Given the description of an element on the screen output the (x, y) to click on. 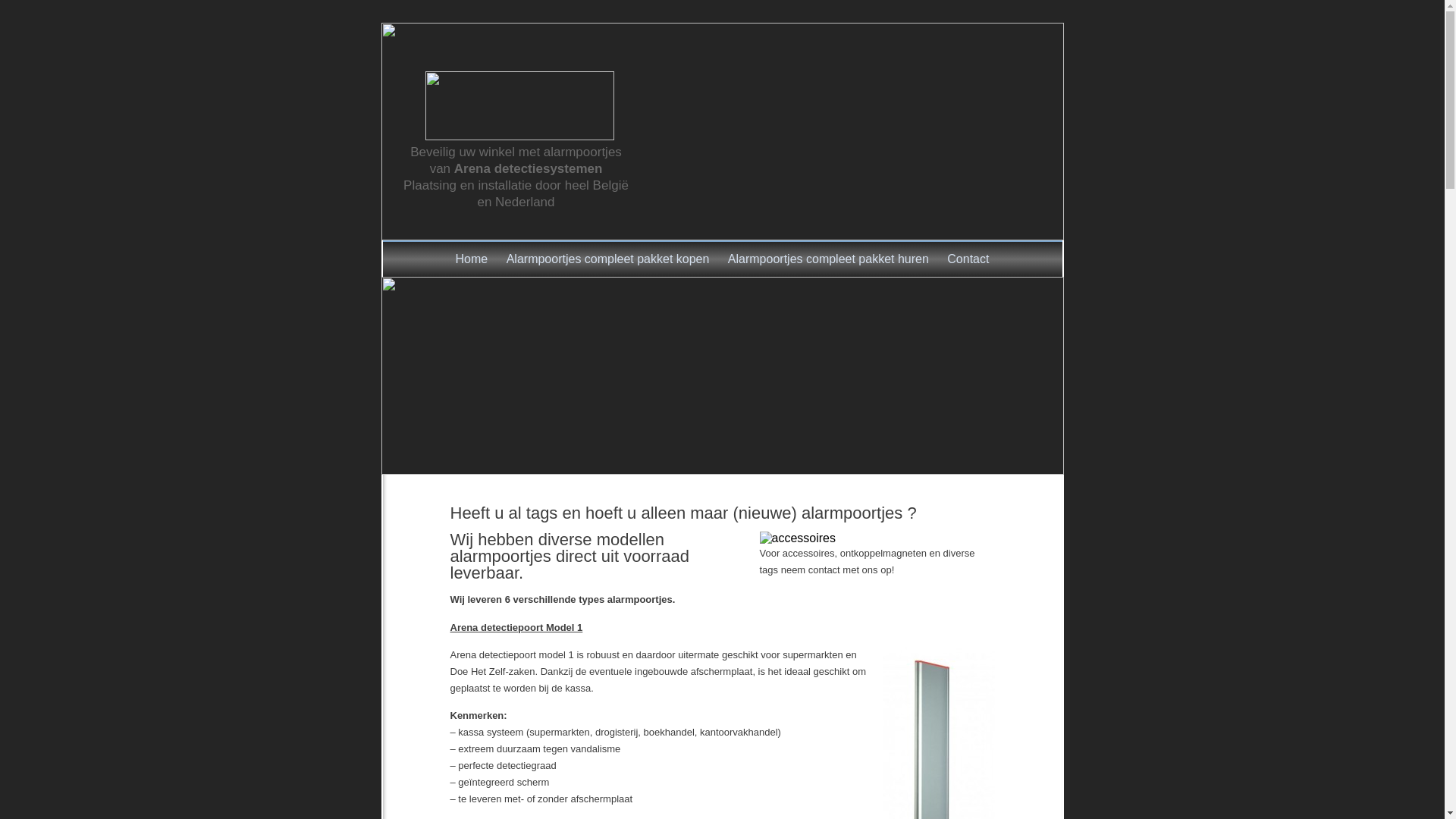
Contact Element type: text (967, 258)
Home Element type: text (471, 258)
Alarmpoortjes compleet pakket kopen Element type: text (607, 258)
Alarmpoortjes compleet pakket huren Element type: text (828, 258)
